Given the description of an element on the screen output the (x, y) to click on. 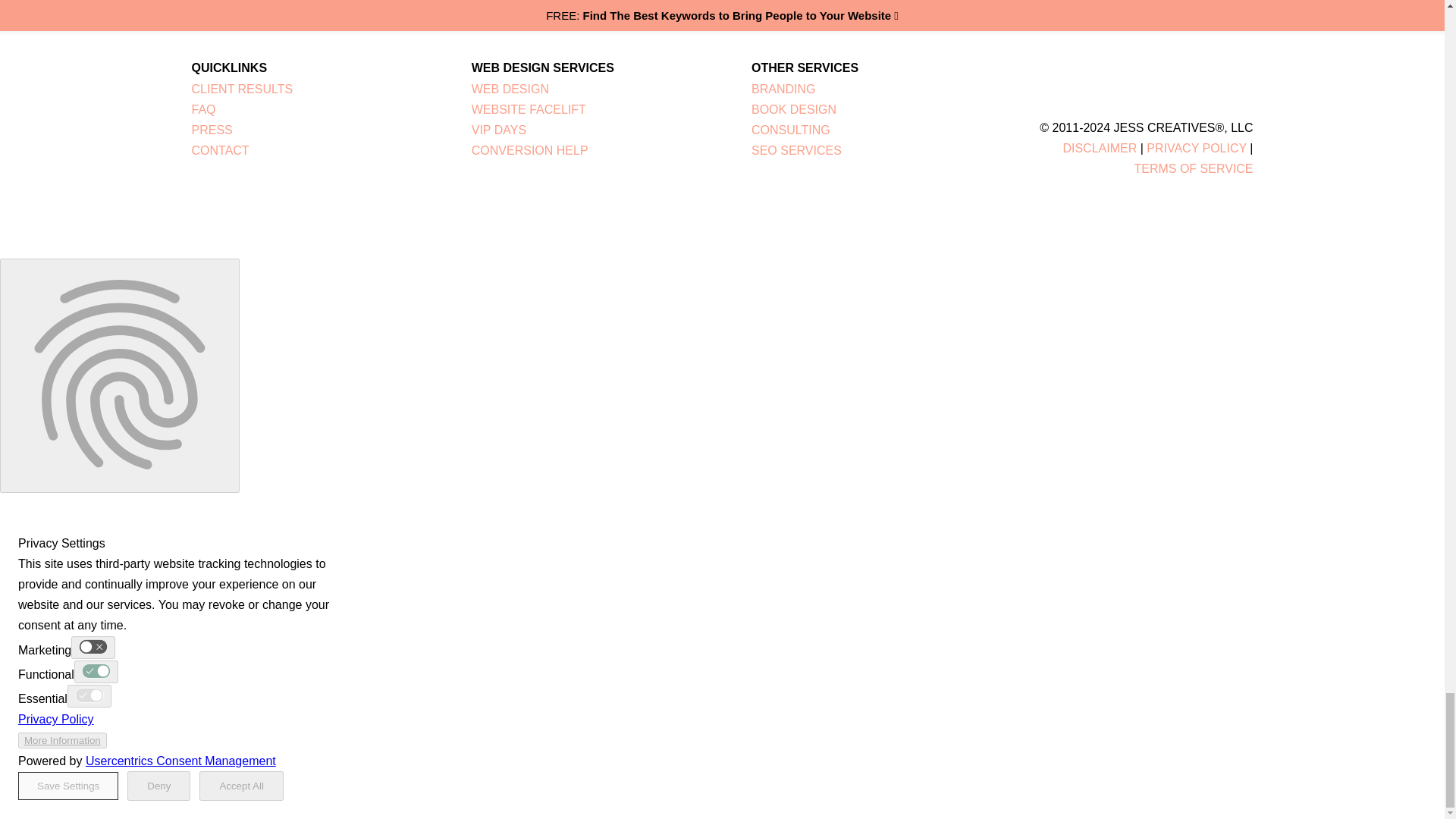
Follow on LinkedIn (1073, 69)
Follow on Youtube (1104, 69)
Follow on Facebook (1042, 69)
Follow on Threads (1134, 69)
